Given the description of an element on the screen output the (x, y) to click on. 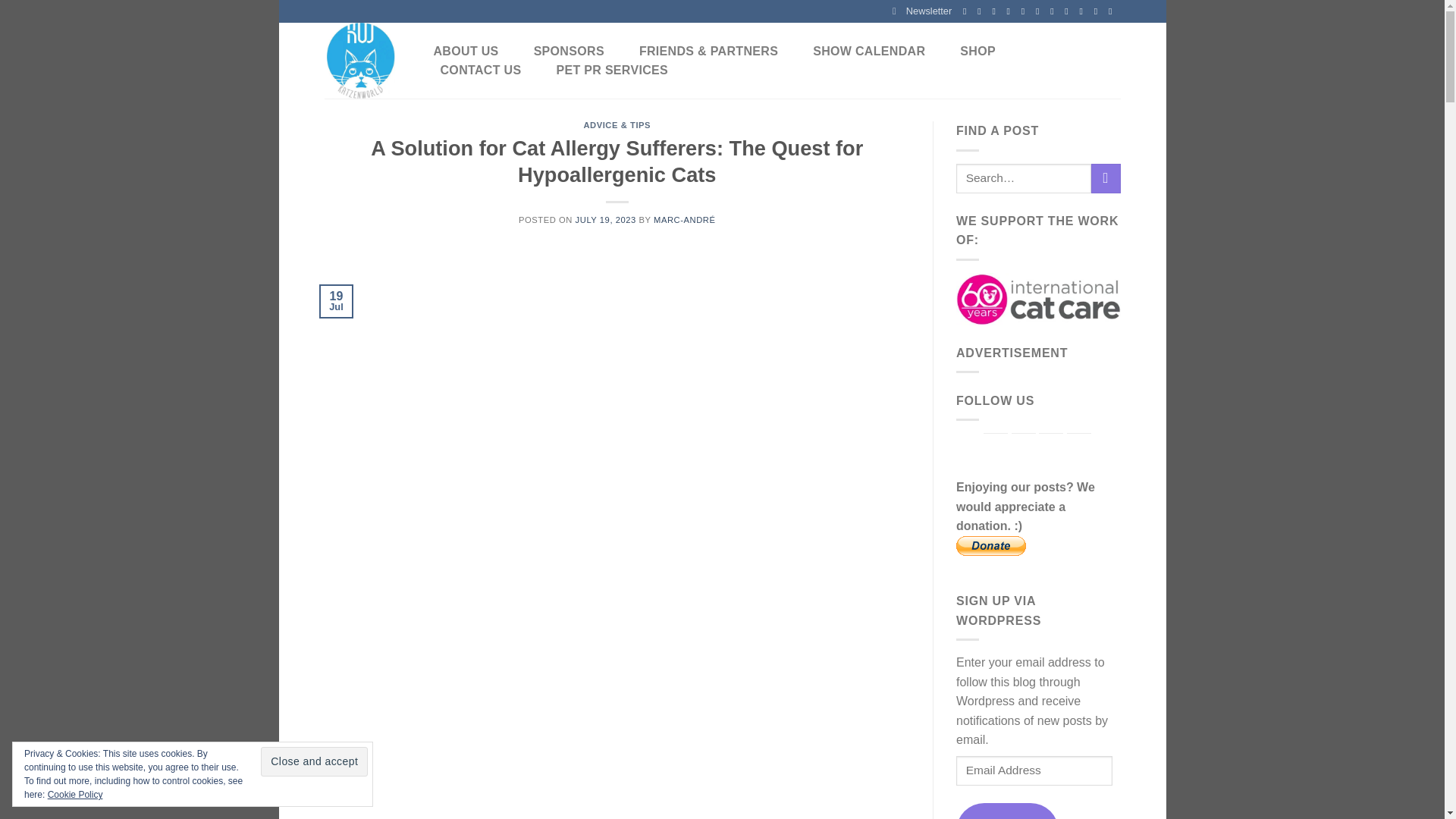
ABOUT US (466, 51)
Close and accept (314, 761)
CONTACT US (480, 70)
SPONSORS (568, 51)
PET PR SERVICES (611, 70)
